Given the description of an element on the screen output the (x, y) to click on. 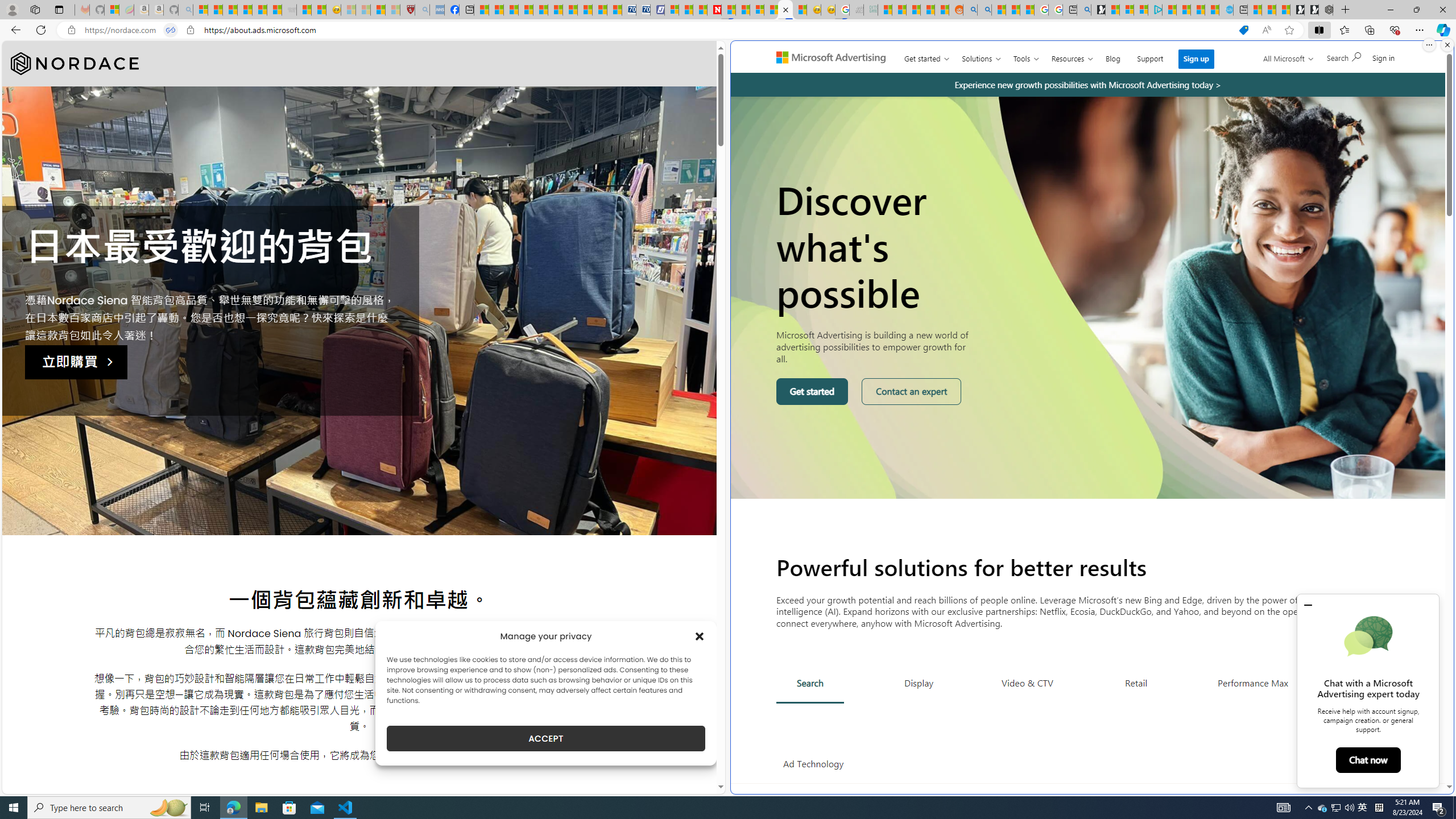
World - MSN (510, 9)
Nordace - Nordace Siena Is Not An Ordinary Backpack (1325, 9)
Favorites (1344, 29)
NCL Adult Asthma Inhaler Choice Guideline - Sleeping (437, 9)
Blog (1112, 56)
Create images, get help with writing, and search faster (779, 62)
MSNBC - MSN (884, 9)
Nordace (74, 63)
Refresh (40, 29)
Bing Real Estate - Home sales and rental listings (1083, 9)
New Report Confirms 2023 Was Record Hot | Watch (259, 9)
